Given the description of an element on the screen output the (x, y) to click on. 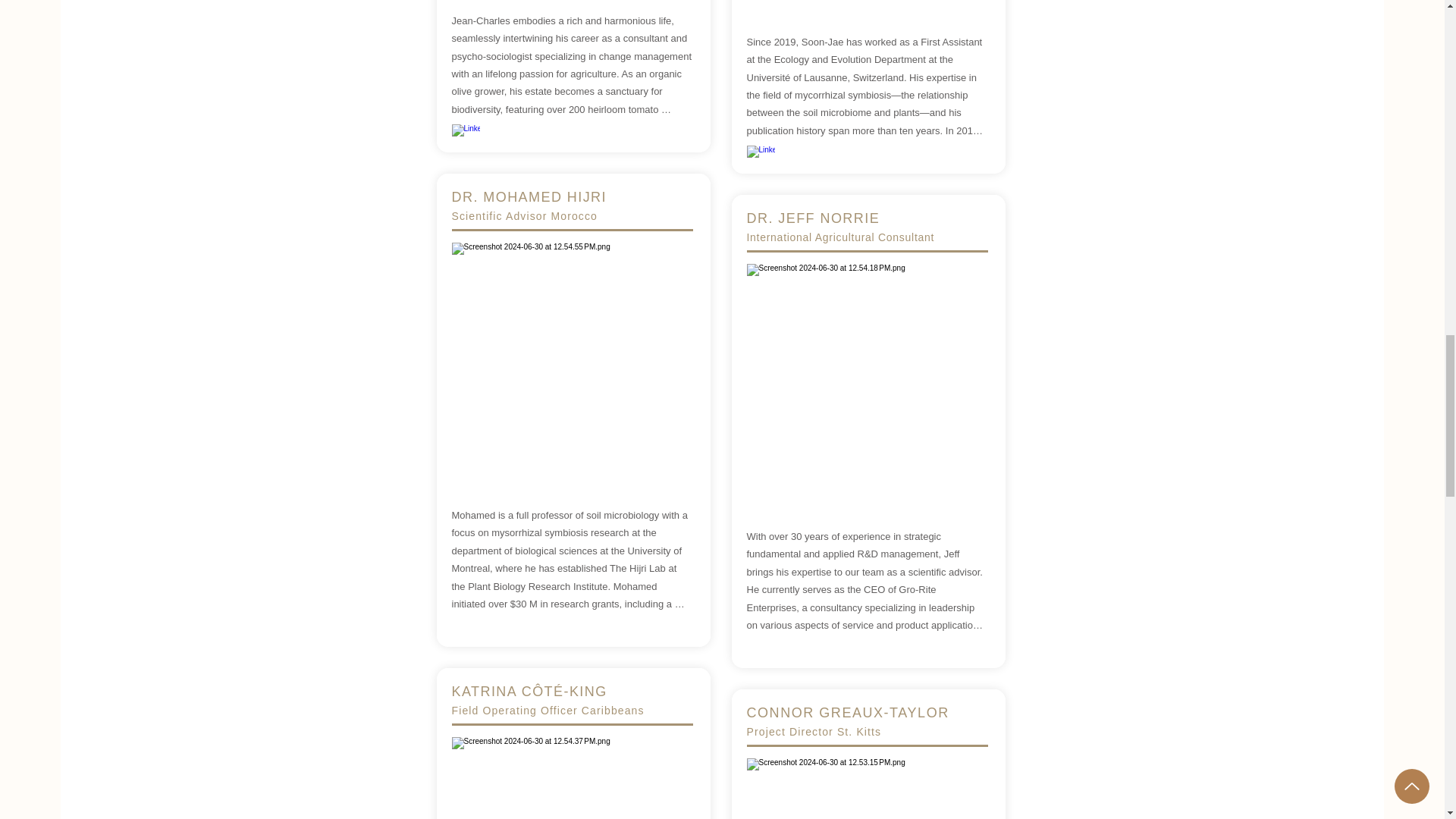
Dr. Mohamed Hijri (572, 363)
Connor Greaux-Taylor (866, 788)
Dr. Soon-Jae Lee (866, 5)
Michel Kaine (866, 384)
